Given the description of an element on the screen output the (x, y) to click on. 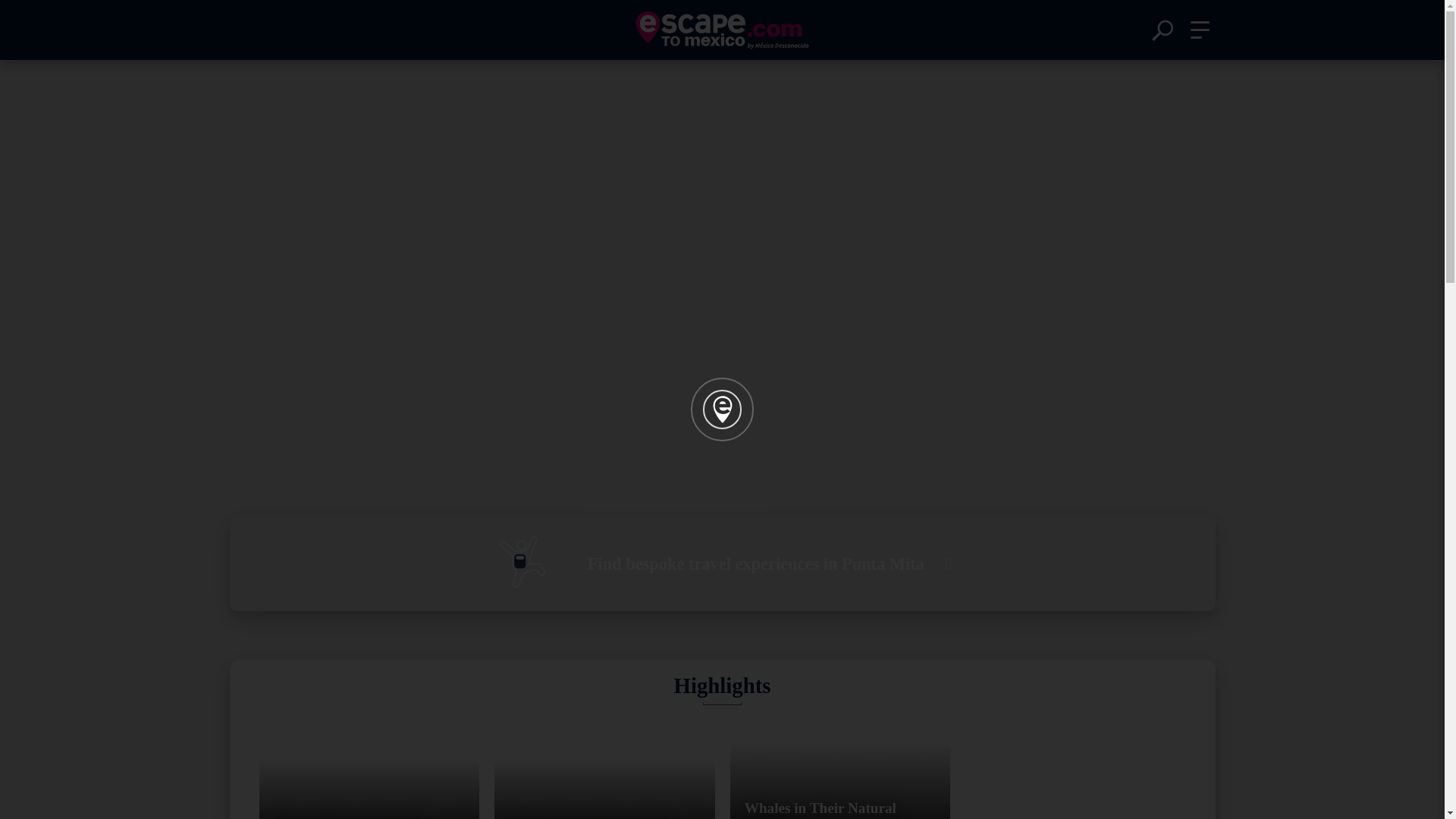
Find bespoke travel experiences in Punta Mita (721, 563)
Whales in Their Natural Habitat (839, 766)
Olive Ridley Sea Turtles (369, 766)
